Given the description of an element on the screen output the (x, y) to click on. 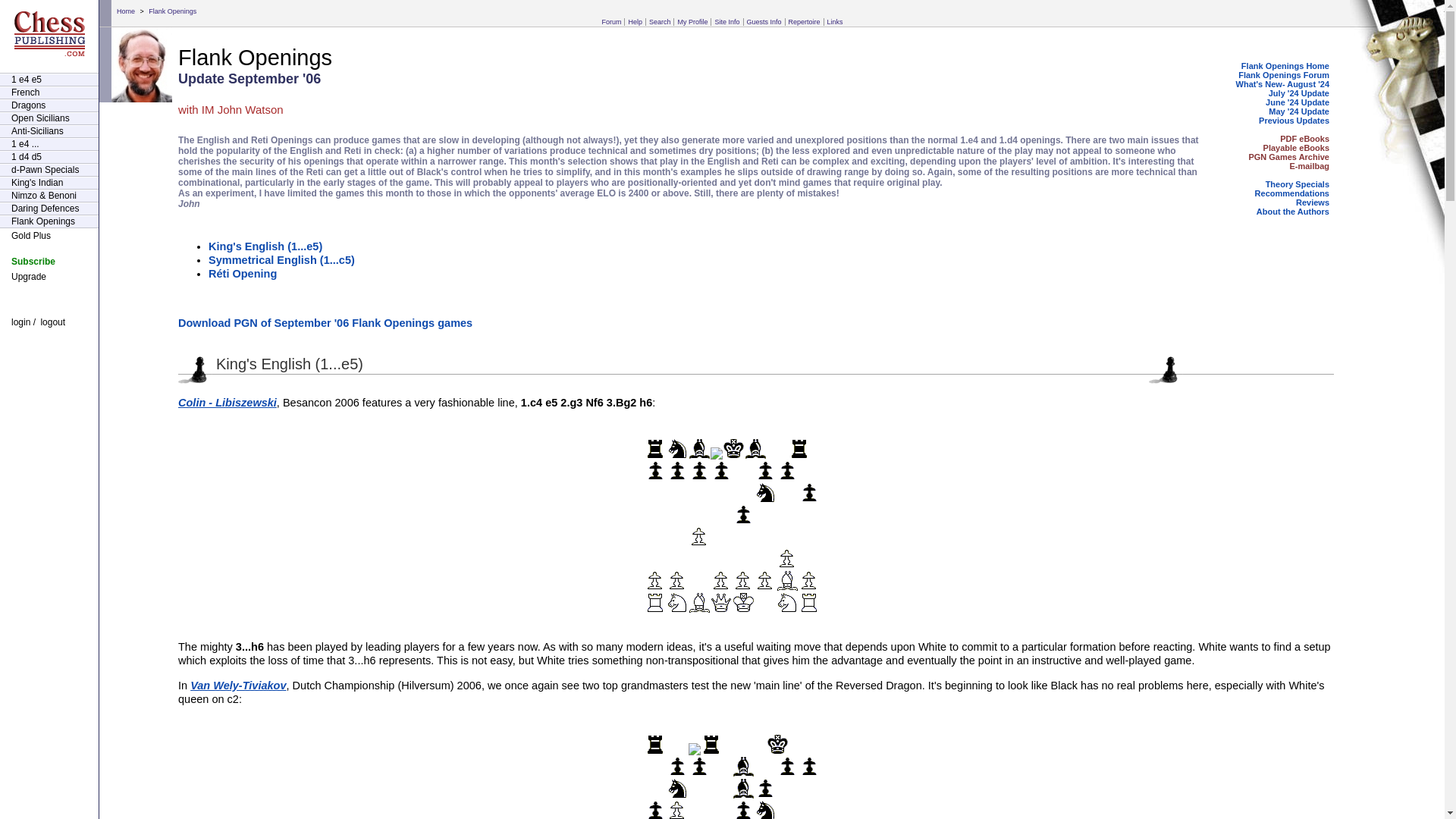
Guests Info (765, 21)
King's Indian (49, 182)
Home (125, 11)
Site Info (726, 21)
Open Sicilians (49, 118)
Forum (611, 21)
Annotated Games (1290, 156)
1 e4 e5 (49, 79)
French (49, 92)
1 d4 d5 (49, 156)
